Given the description of an element on the screen output the (x, y) to click on. 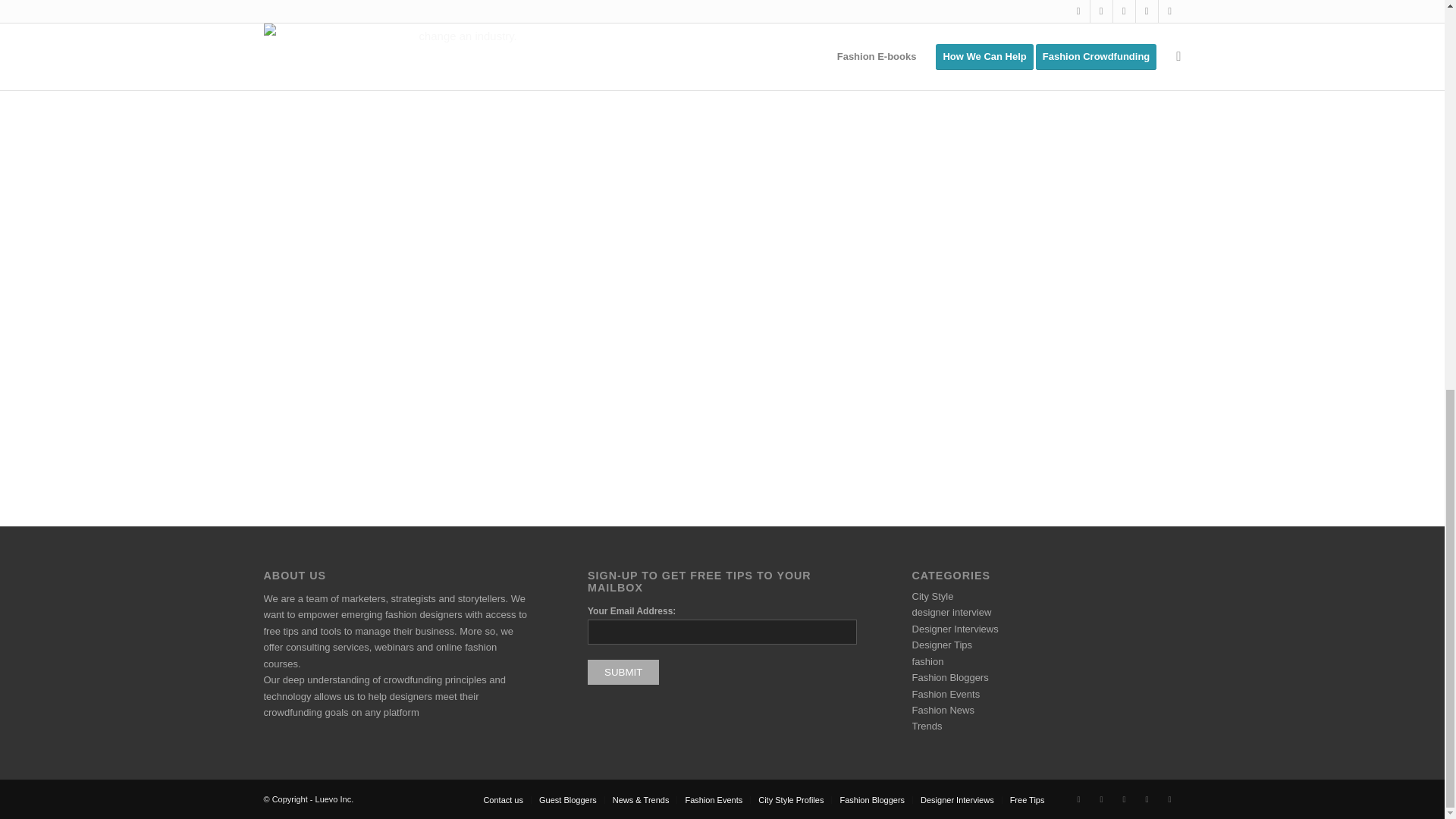
Fashion Events (713, 799)
Gplus (1124, 798)
fashion (927, 661)
Guest Bloggers (567, 799)
Pinterest (1169, 798)
Facebook (1101, 798)
Designer Tips (942, 644)
Instagram (1146, 798)
City Style (932, 595)
SUBMIT (623, 672)
Designer Interviews (955, 628)
Fashion News (943, 709)
City Style Profiles (791, 799)
SUBMIT (623, 672)
Fashion Bloggers (872, 799)
